Given the description of an element on the screen output the (x, y) to click on. 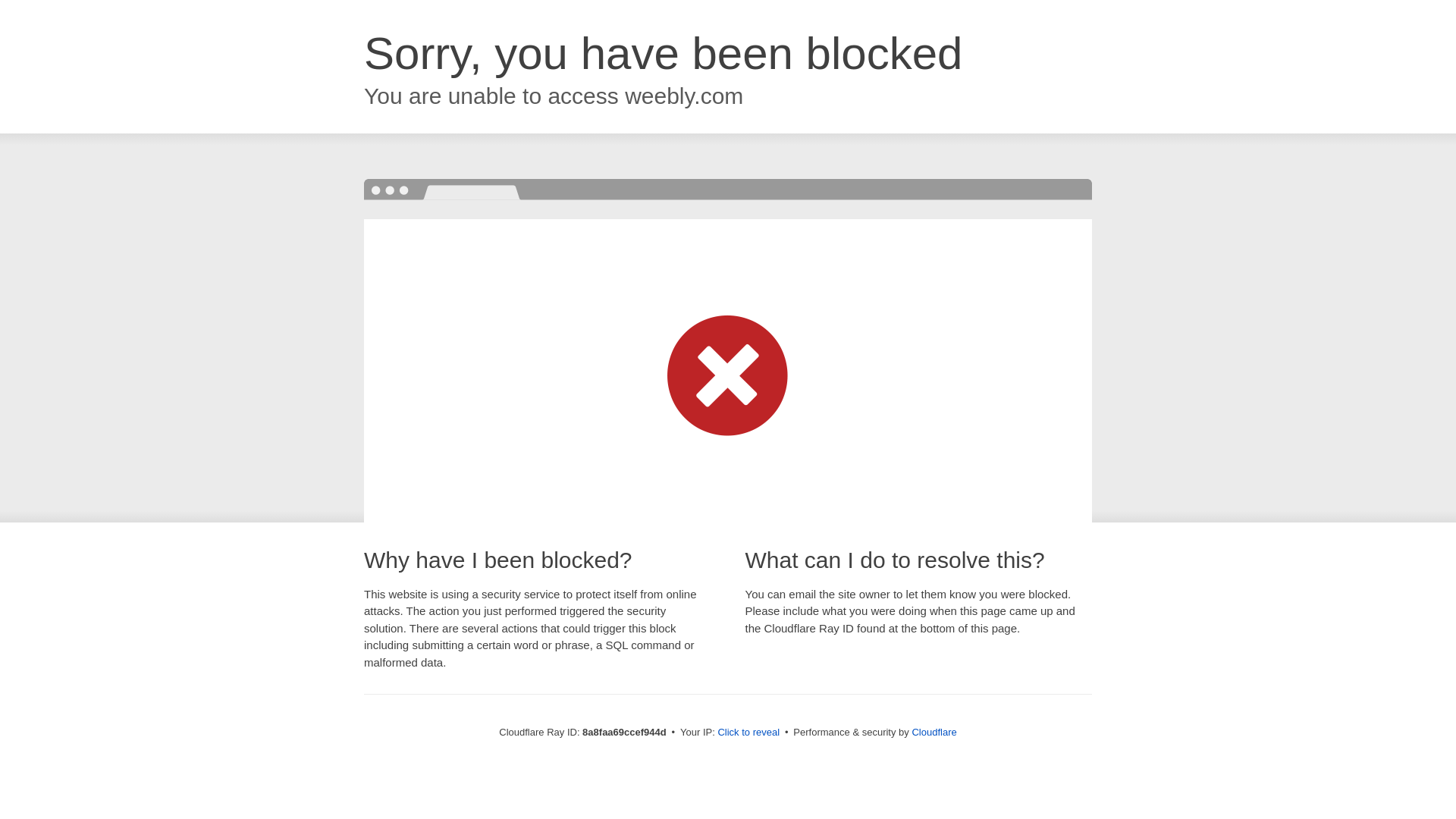
Cloudflare (933, 731)
Click to reveal (747, 732)
